Given the description of an element on the screen output the (x, y) to click on. 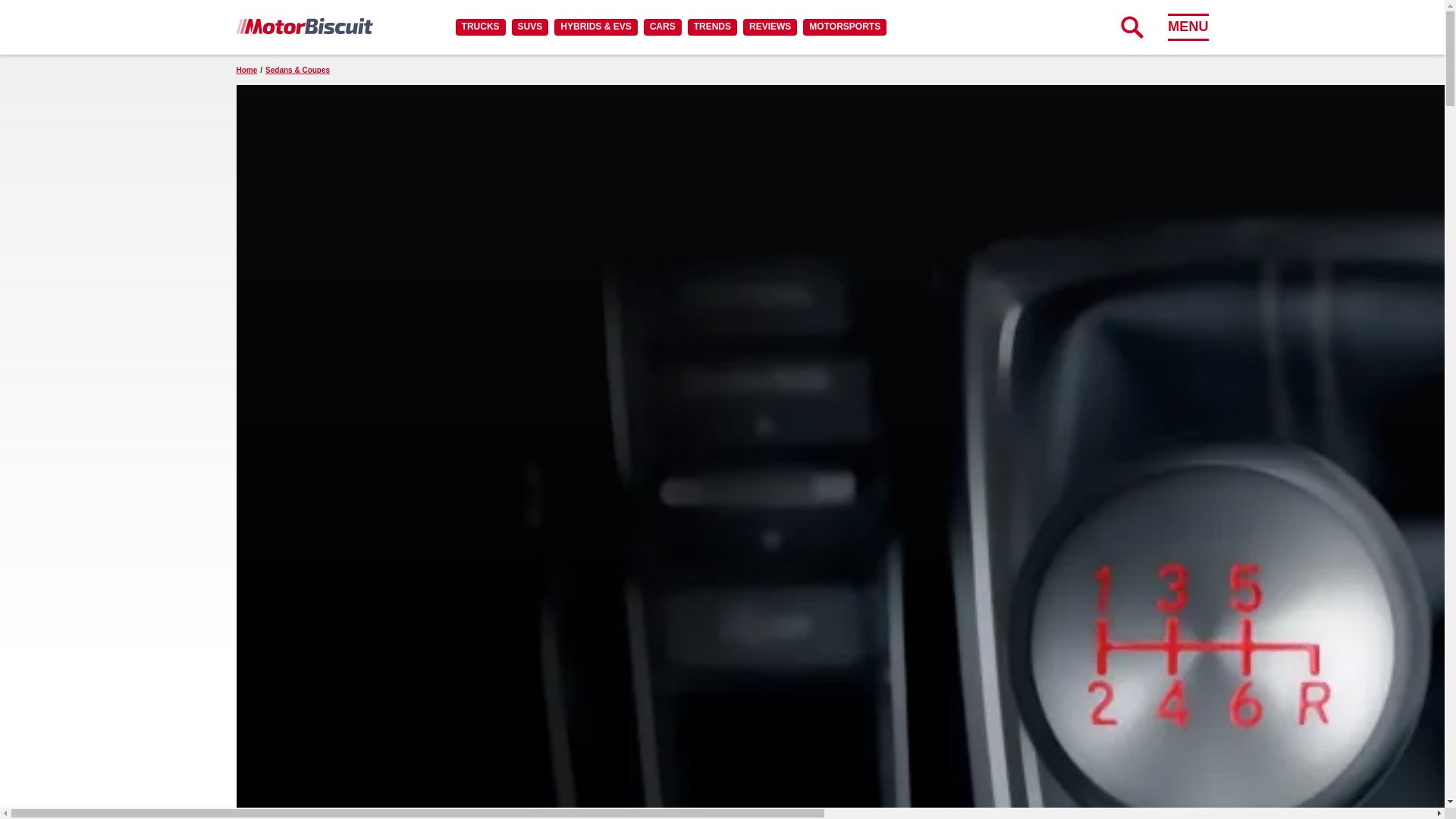
CARS (662, 26)
TRENDS (711, 26)
MotorBiscuit (303, 26)
SUVS (530, 26)
TRUCKS (480, 26)
MOTORSPORTS (844, 26)
MENU (1187, 26)
REVIEWS (769, 26)
Expand Search (1131, 26)
